Given the description of an element on the screen output the (x, y) to click on. 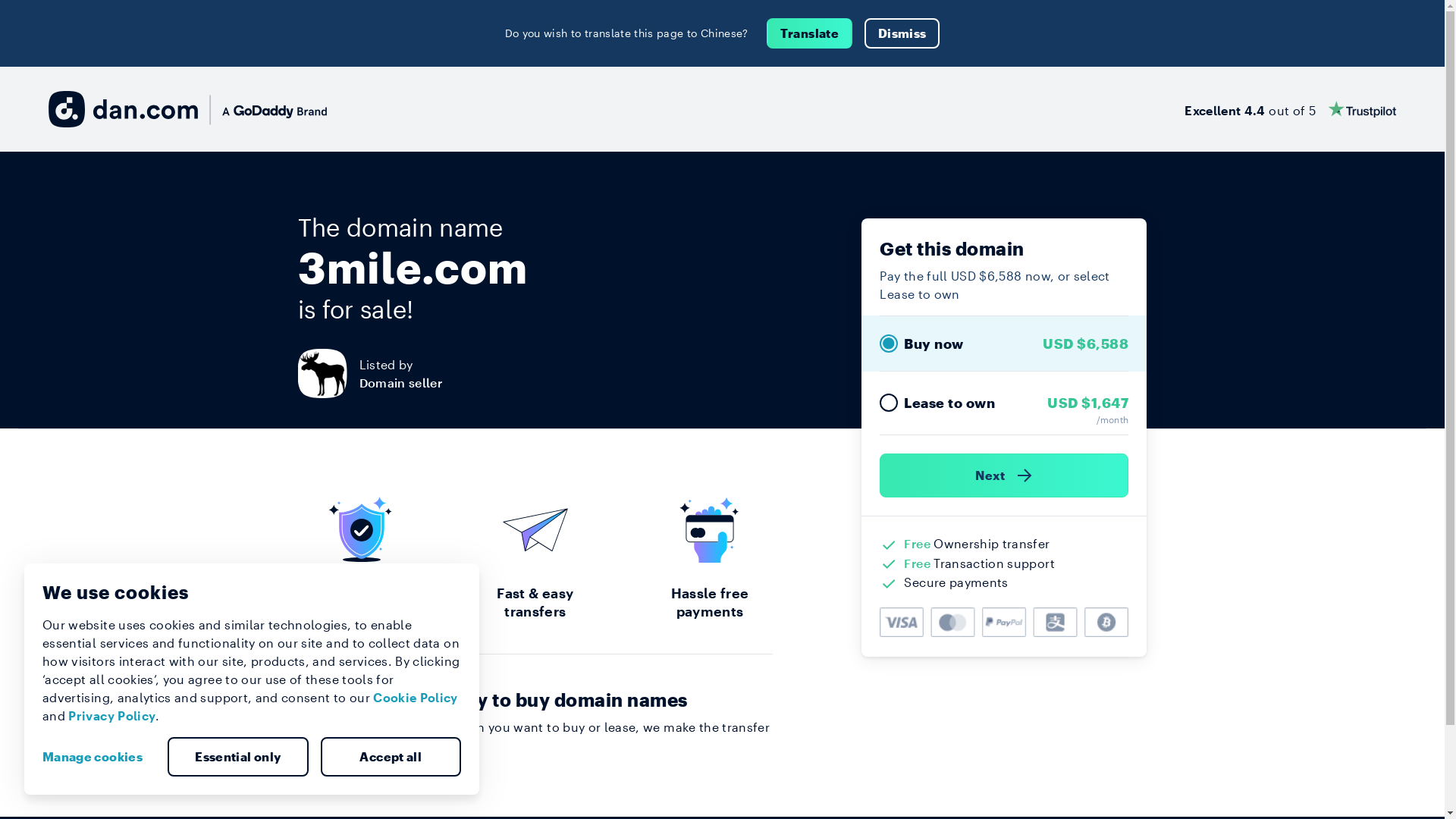
Accept all Element type: text (390, 756)
Excellent 4.4 out of 5 Element type: text (1290, 109)
Cookie Policy Element type: text (415, 697)
Privacy Policy Element type: text (111, 715)
Translate Element type: text (809, 33)
Essential only Element type: text (237, 756)
Dismiss Element type: text (901, 33)
Next
) Element type: text (1003, 475)
Manage cookies Element type: text (98, 756)
